Given the description of an element on the screen output the (x, y) to click on. 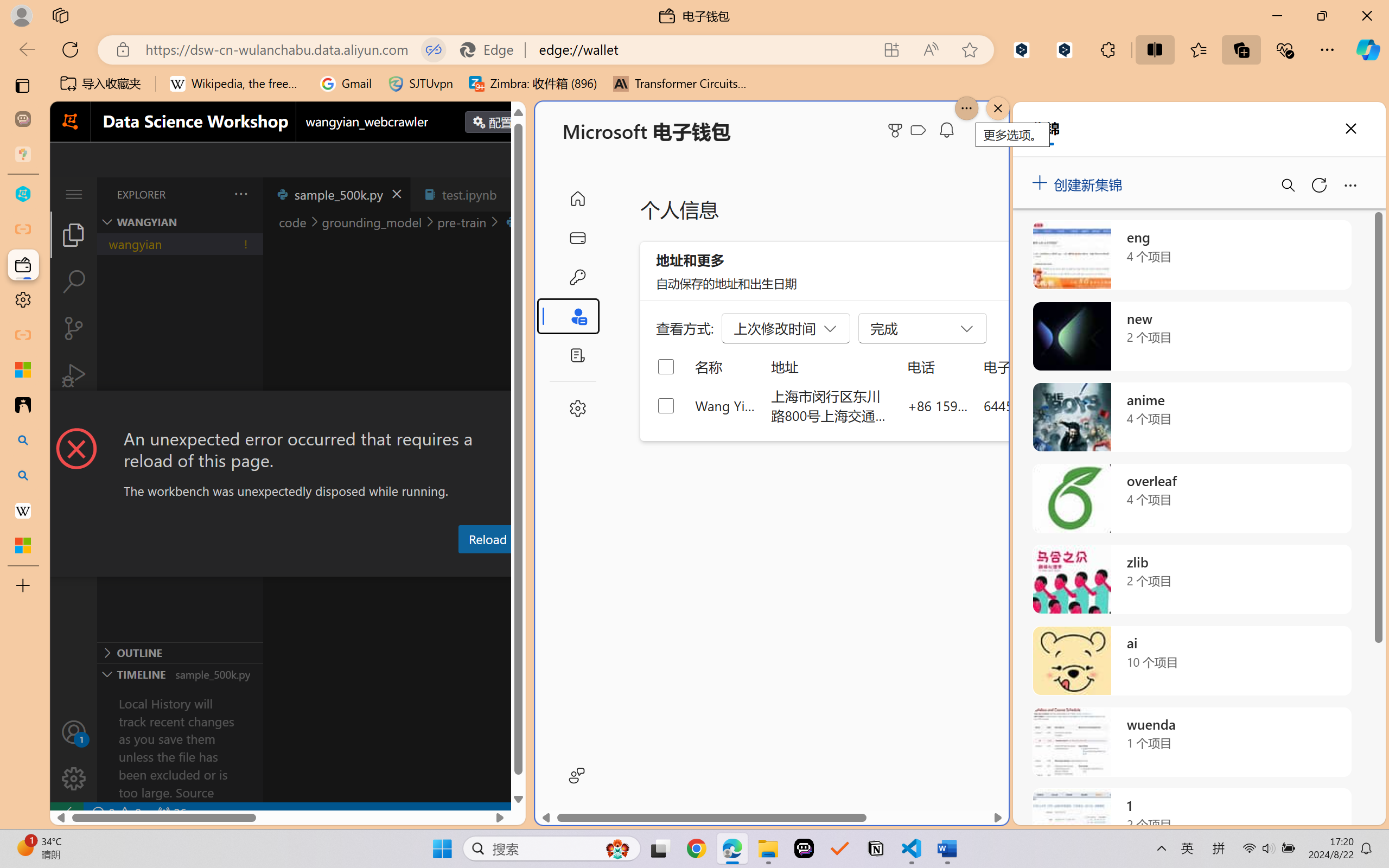
No Problems (115, 812)
Wikipedia, the free encyclopedia (236, 83)
Class: menubar compact overflow-menu-only (73, 194)
Wang Yian (725, 405)
